Given the description of an element on the screen output the (x, y) to click on. 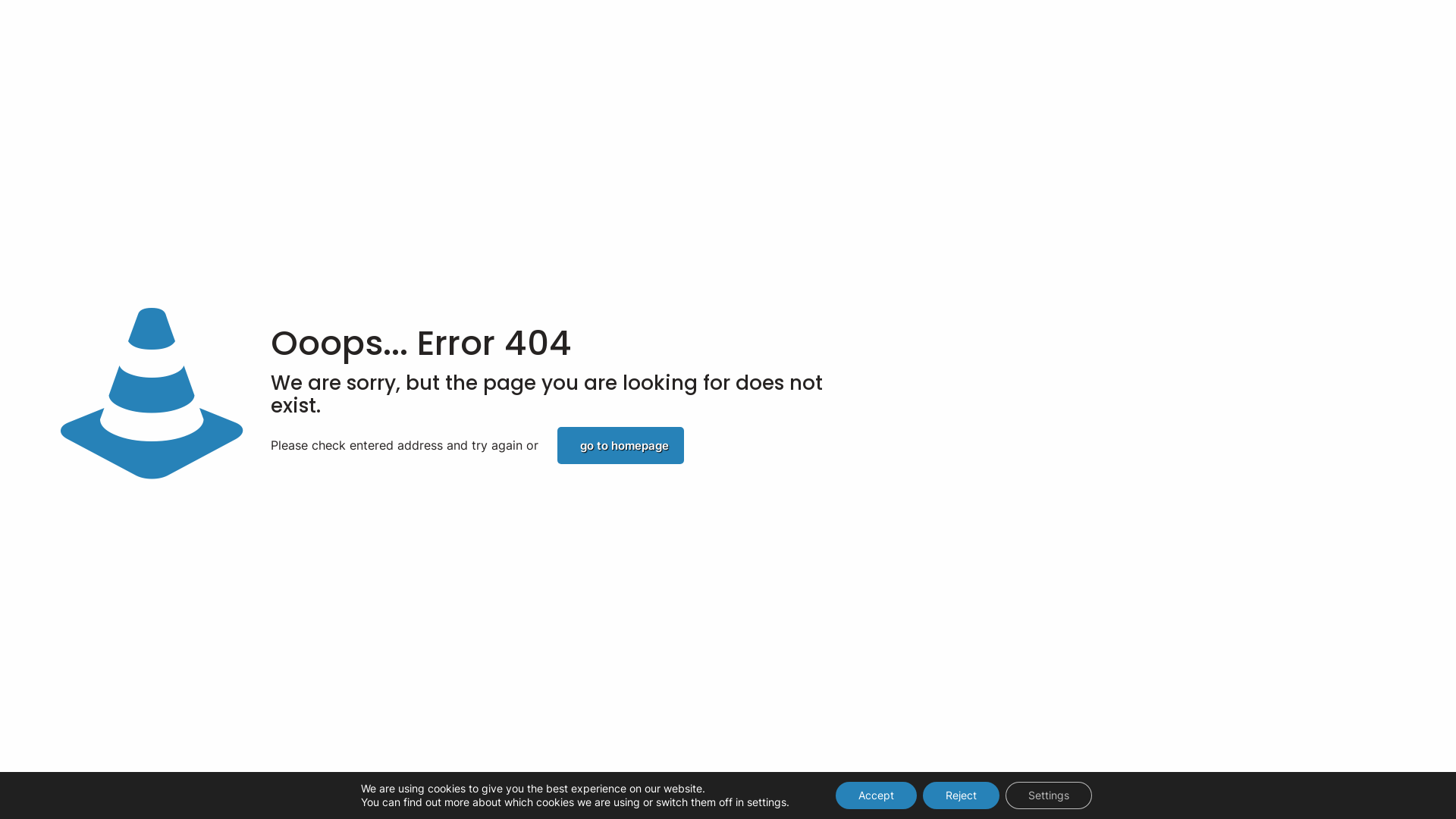
Reject Element type: text (960, 795)
Settings Element type: text (1048, 795)
settings Element type: text (766, 802)
go to homepage Element type: text (620, 445)
Accept Element type: text (875, 795)
